Given the description of an element on the screen output the (x, y) to click on. 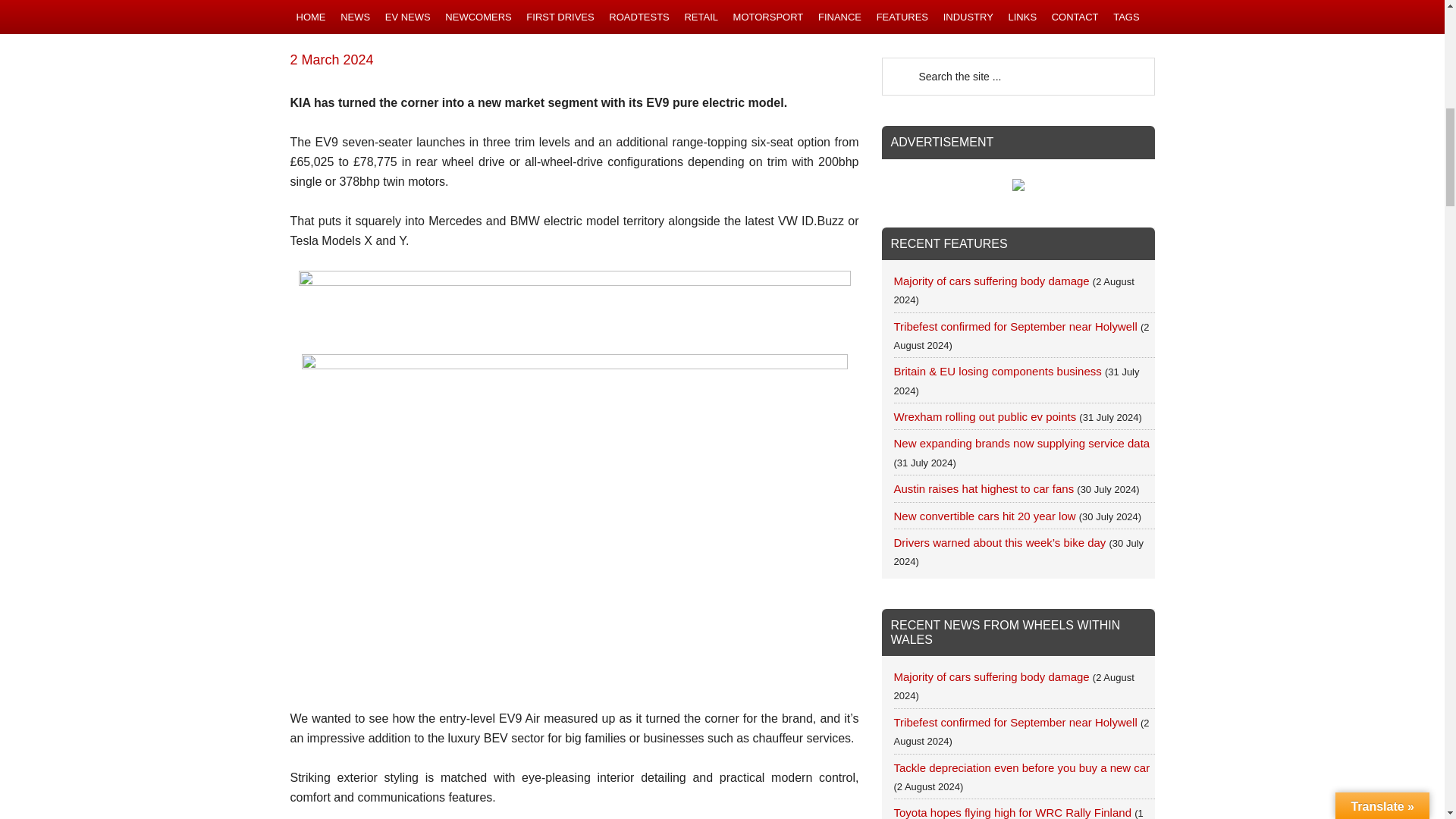
Permanent link to Majority of cars suffering body damage (991, 676)
Permanent link to Majority of cars suffering body damage (991, 280)
Permanent link to Wrexham rolling out public ev points (984, 416)
Permanent link to New convertible cars hit 20 year low (984, 515)
